Given the description of an element on the screen output the (x, y) to click on. 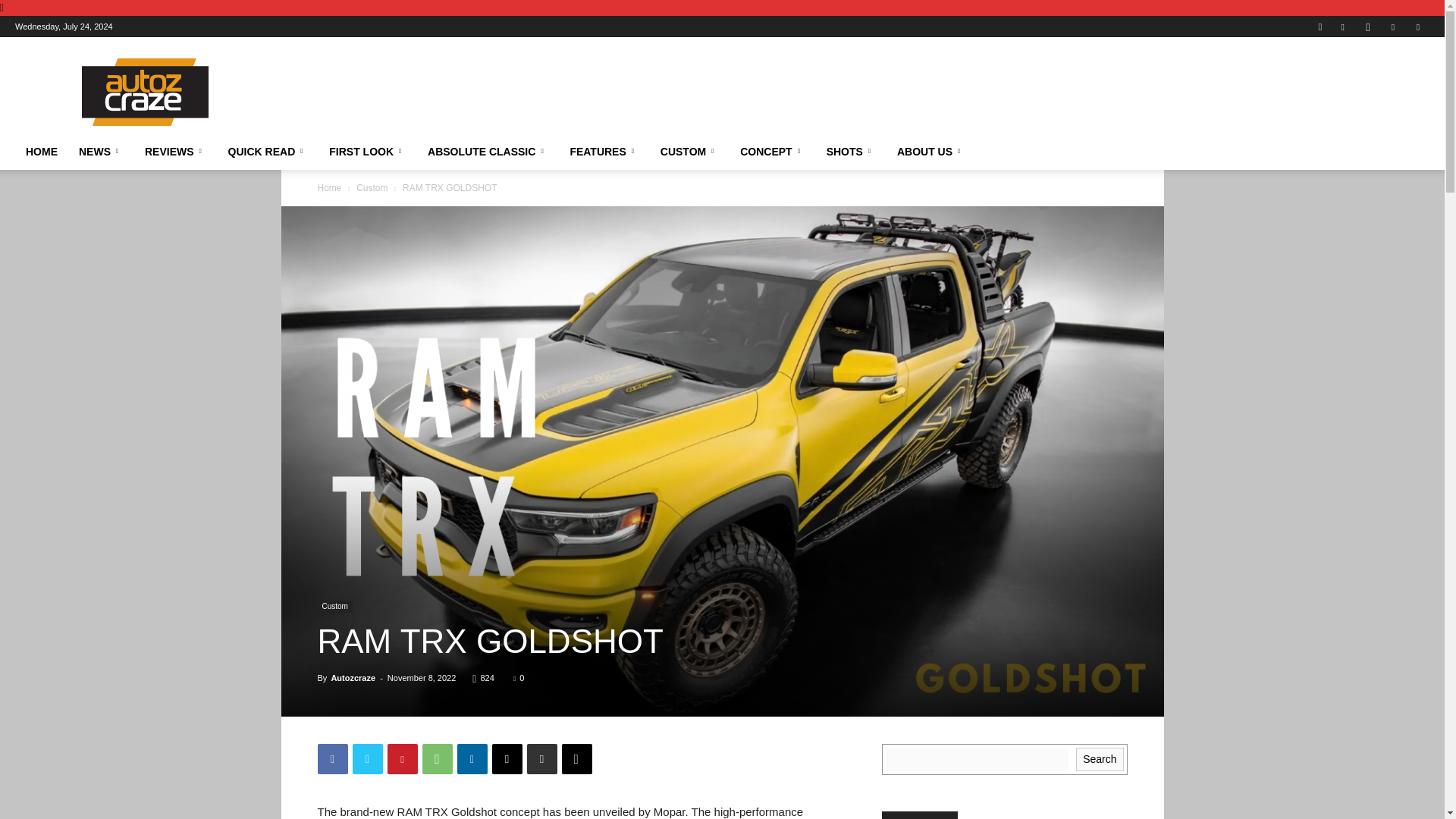
NEWS (100, 151)
Twitter (1417, 25)
Search (1379, 79)
Linkedin (1393, 25)
Facebook (1343, 25)
HOME (41, 151)
Instagram (1367, 25)
